Given the description of an element on the screen output the (x, y) to click on. 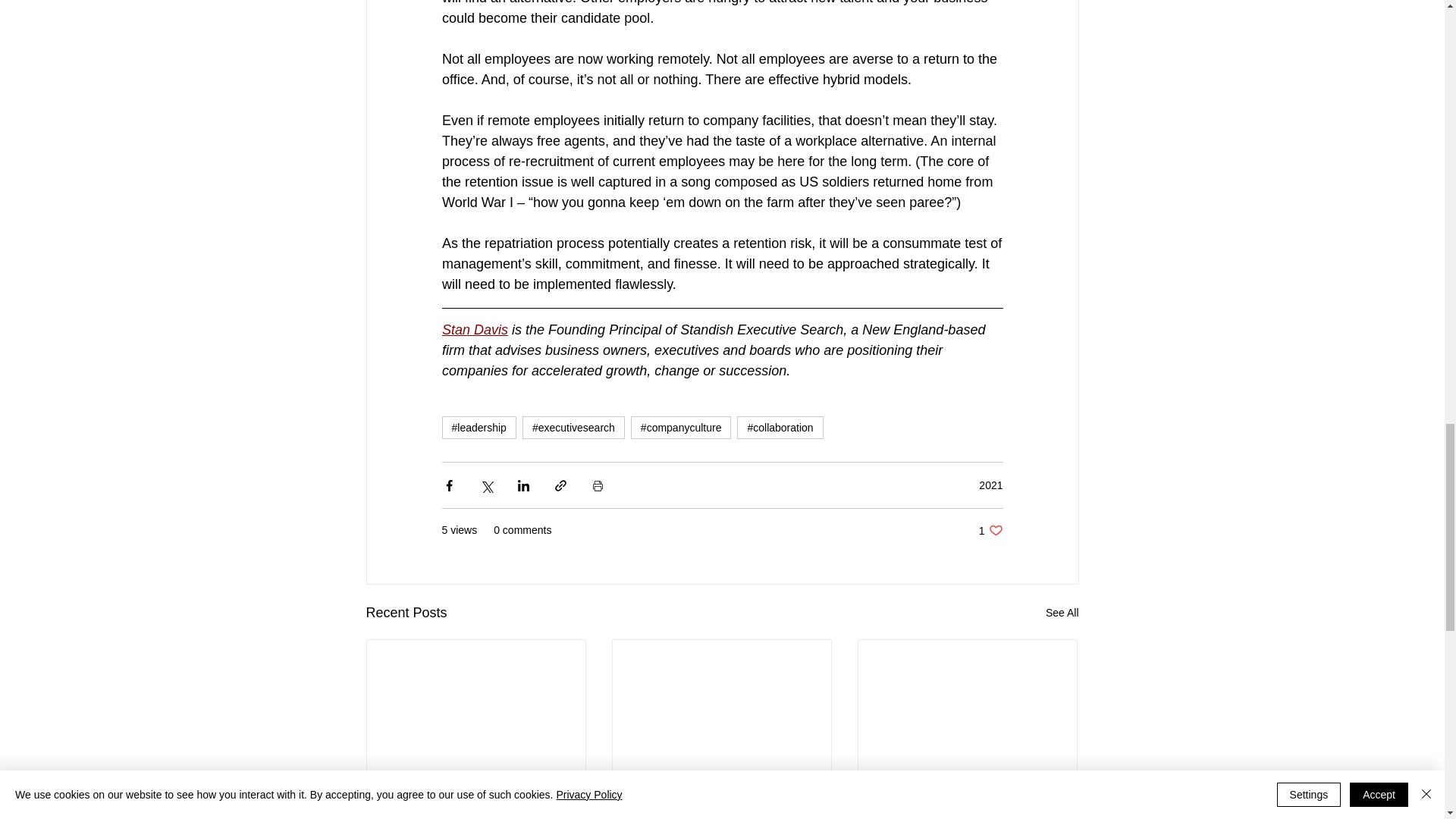
2021 (990, 485)
Stan Davis (473, 329)
See All (1061, 612)
